Given the description of an element on the screen output the (x, y) to click on. 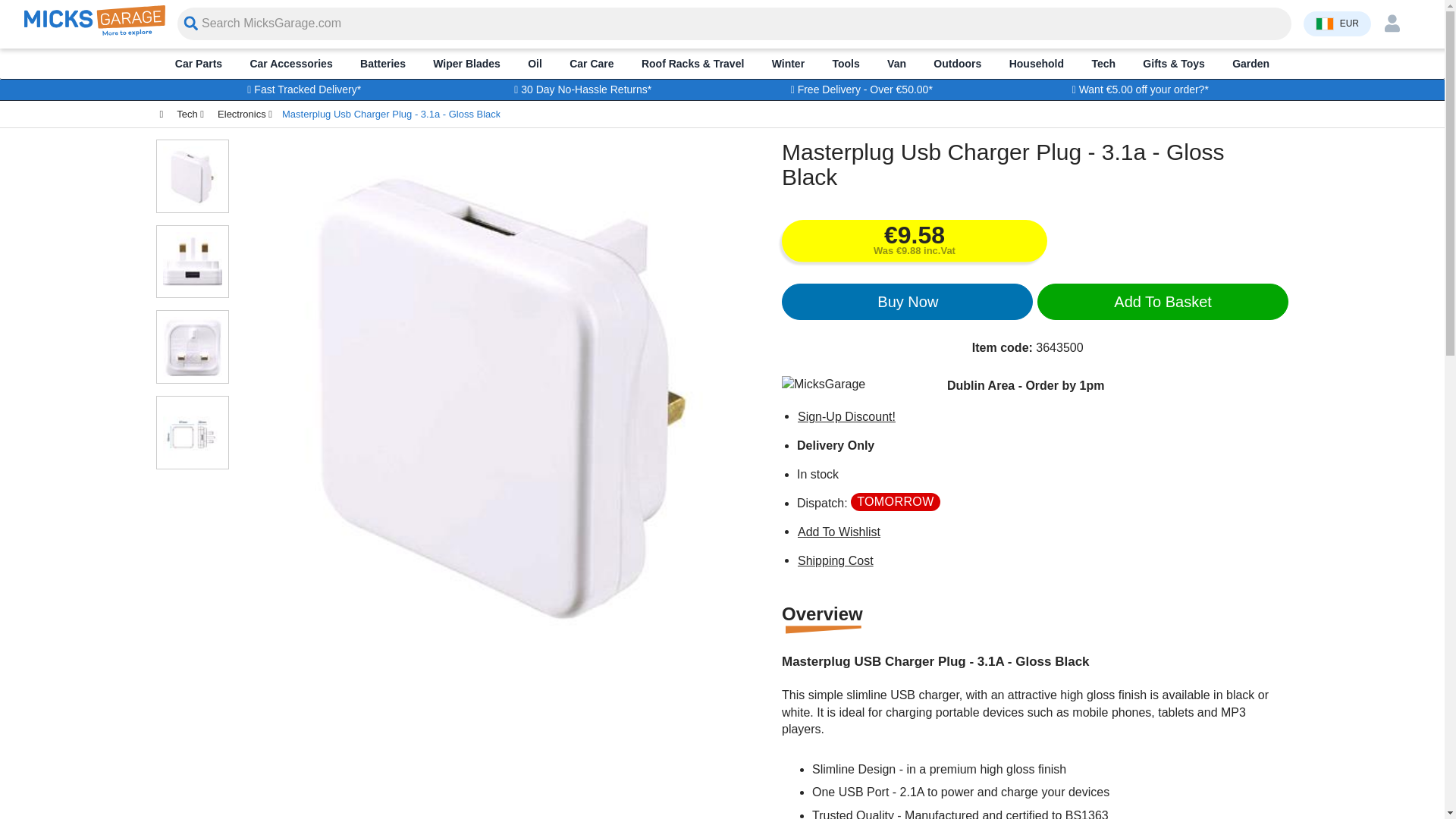
Garden (1250, 63)
Tech (1103, 63)
Batteries (382, 63)
Garden (1250, 63)
Household (1036, 63)
Household (1036, 63)
Outdoors (957, 63)
Batteries (382, 63)
tools (845, 63)
EUR (1337, 23)
Outdoors (957, 63)
Car Accessories (291, 63)
Winter (788, 63)
Car Care (591, 63)
MicksGarage (94, 31)
